Given the description of an element on the screen output the (x, y) to click on. 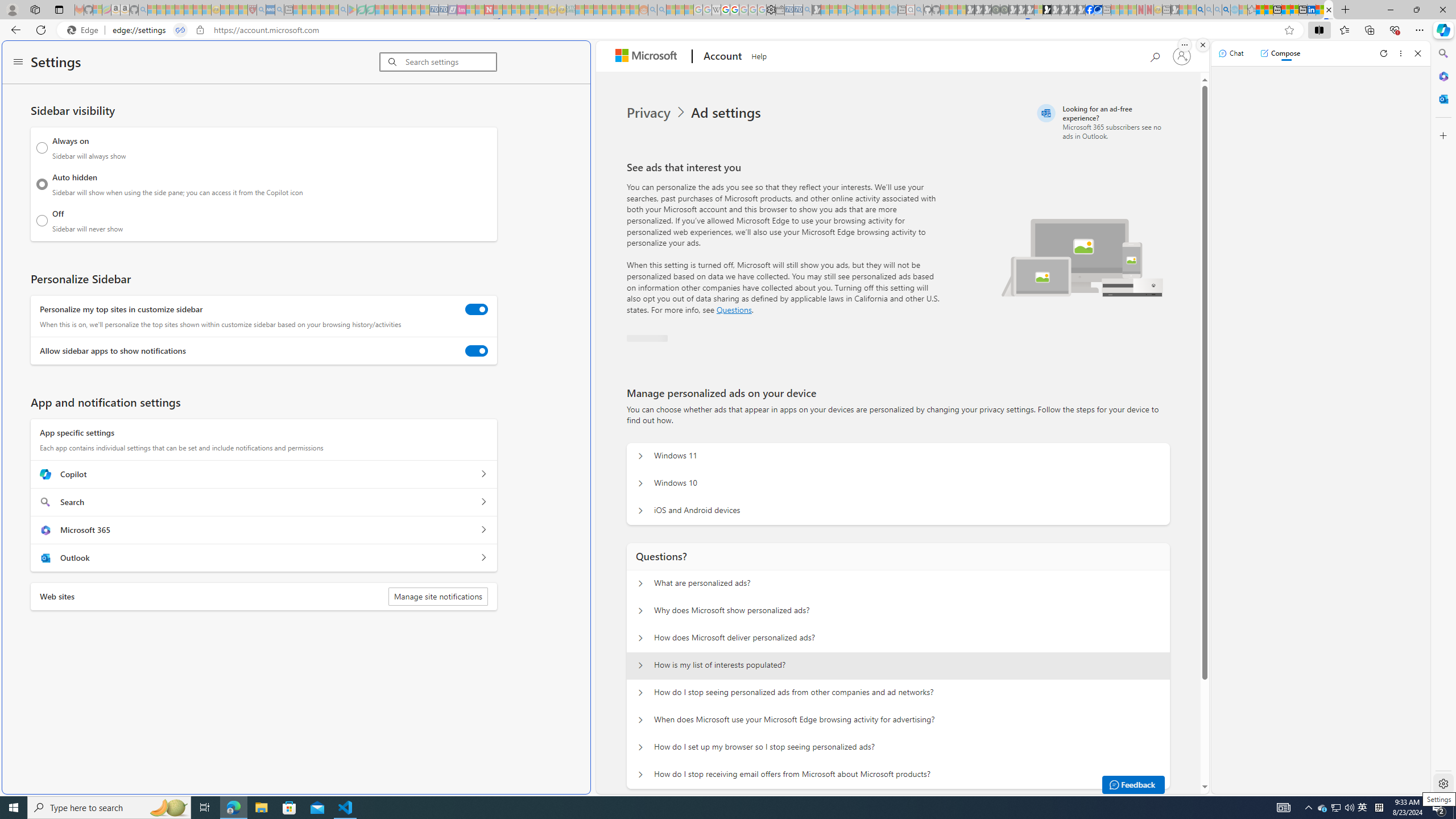
Bluey: Let's Play! - Apps on Google Play - Sleeping (352, 9)
Manage personalized ads on your device Windows 10 (640, 483)
github - Search - Sleeping (919, 9)
Nordace | Facebook (1089, 9)
Sign in to your account (1181, 55)
